Given the description of an element on the screen output the (x, y) to click on. 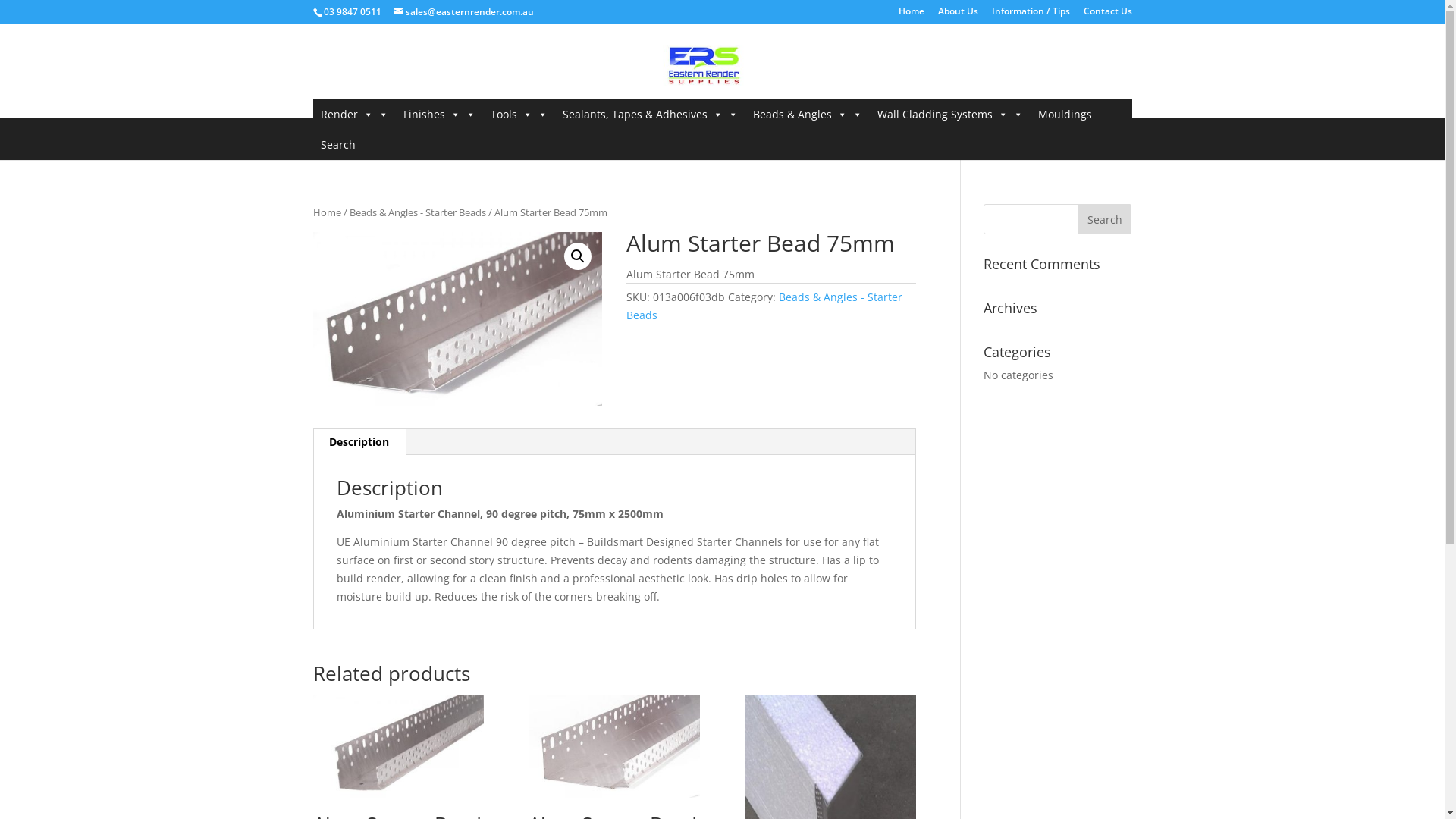
Finishes Element type: text (439, 114)
alum_starter_bead_75mm_833_1 Element type: hover (457, 318)
About Us Element type: text (957, 14)
Mouldings Element type: text (1063, 114)
Information / Tips Element type: text (1030, 14)
sales@easternrender.com.au Element type: text (462, 11)
Beads & Angles - Starter Beads Element type: text (764, 305)
Home Element type: text (326, 212)
Tools Element type: text (518, 114)
Contact Us Element type: text (1106, 14)
Search Element type: text (1104, 218)
Description Element type: text (358, 442)
Render Element type: text (353, 114)
Home Element type: text (910, 14)
Search Element type: text (337, 144)
Wall Cladding Systems Element type: text (949, 114)
Sealants, Tapes & Adhesives Element type: text (650, 114)
Beads & Angles - Starter Beads Element type: text (416, 212)
Beads & Angles Element type: text (806, 114)
